Given the description of an element on the screen output the (x, y) to click on. 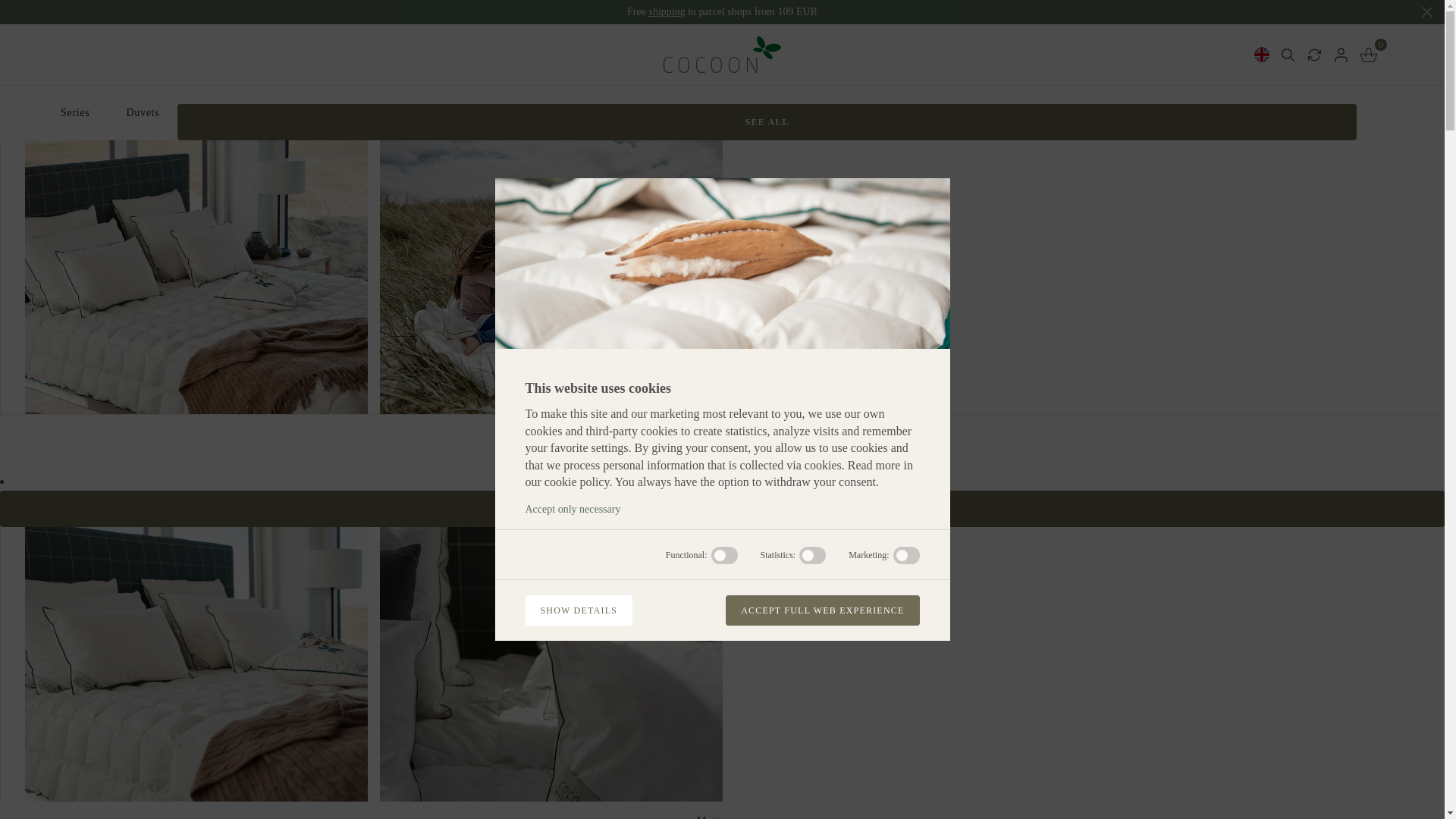
SEE ALL (766, 122)
shipping (665, 11)
Dansk (1214, 69)
Log in (1340, 53)
